Given the description of an element on the screen output the (x, y) to click on. 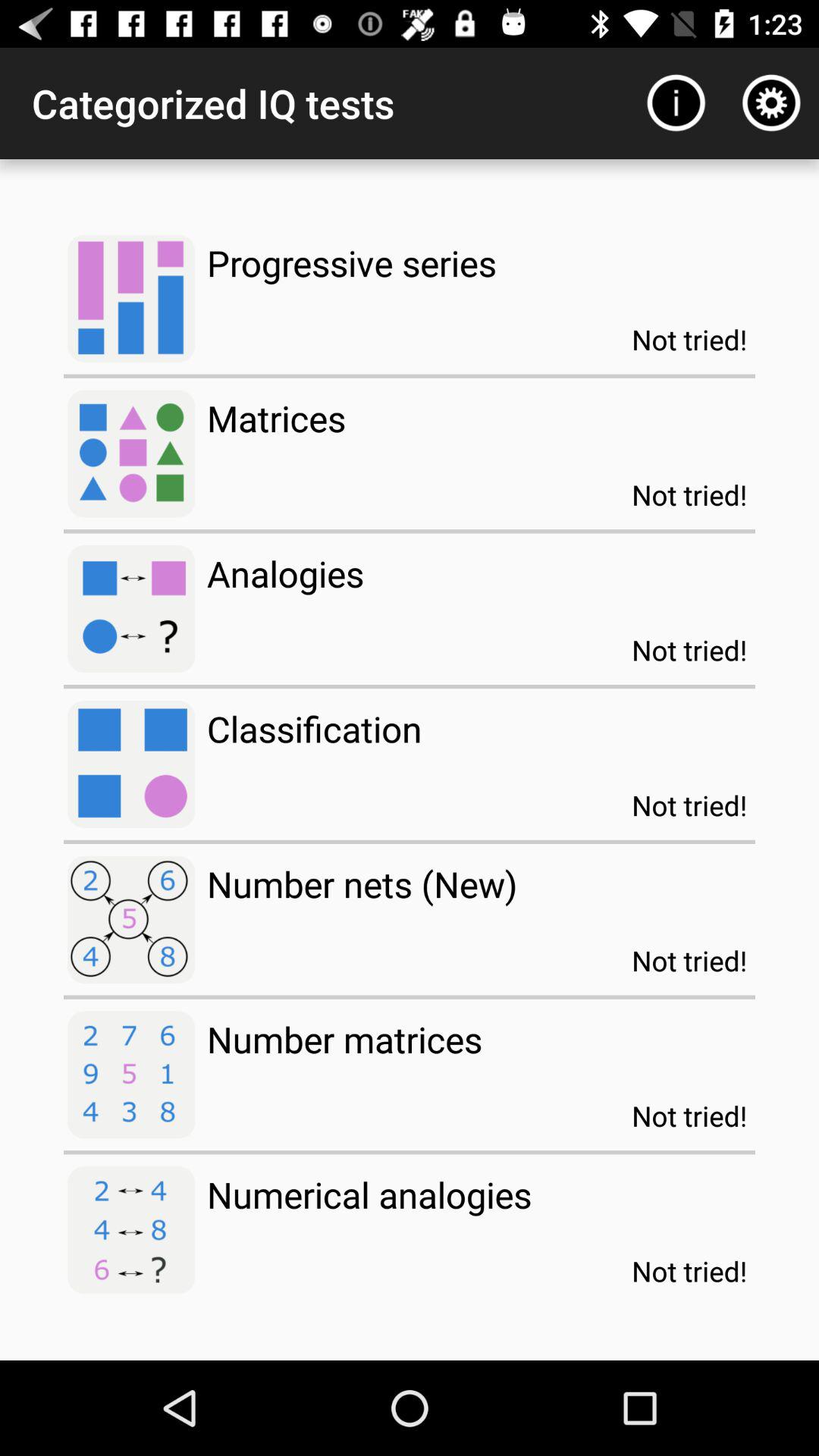
turn off app below the categorized iq tests app (351, 262)
